Given the description of an element on the screen output the (x, y) to click on. 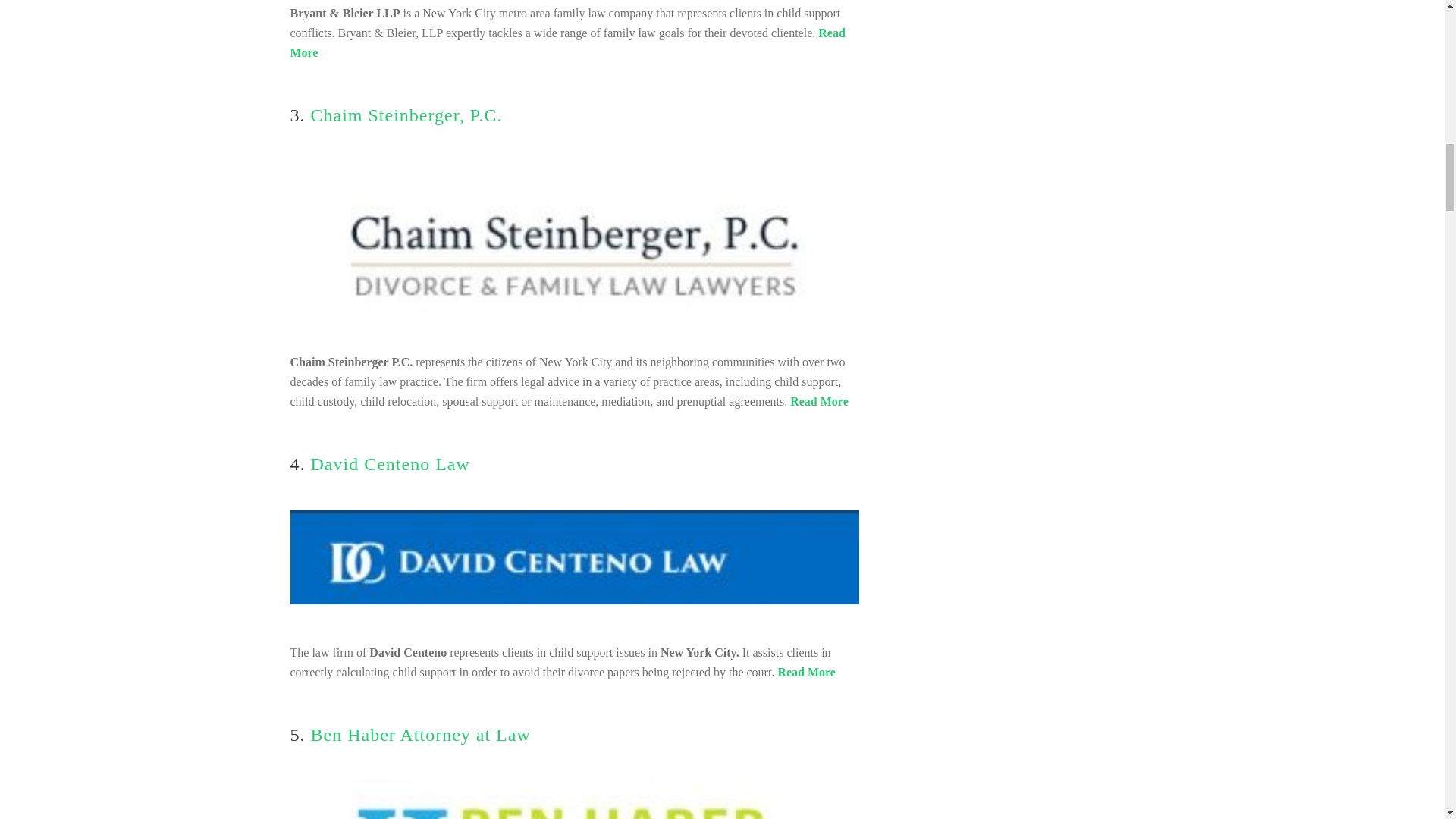
Read More (806, 671)
Ben Haber Attorney at Law (421, 734)
Chaim Steinberger, P.C. (406, 115)
David Centeno Law (390, 464)
Read More (566, 42)
Read More (819, 400)
